Given the description of an element on the screen output the (x, y) to click on. 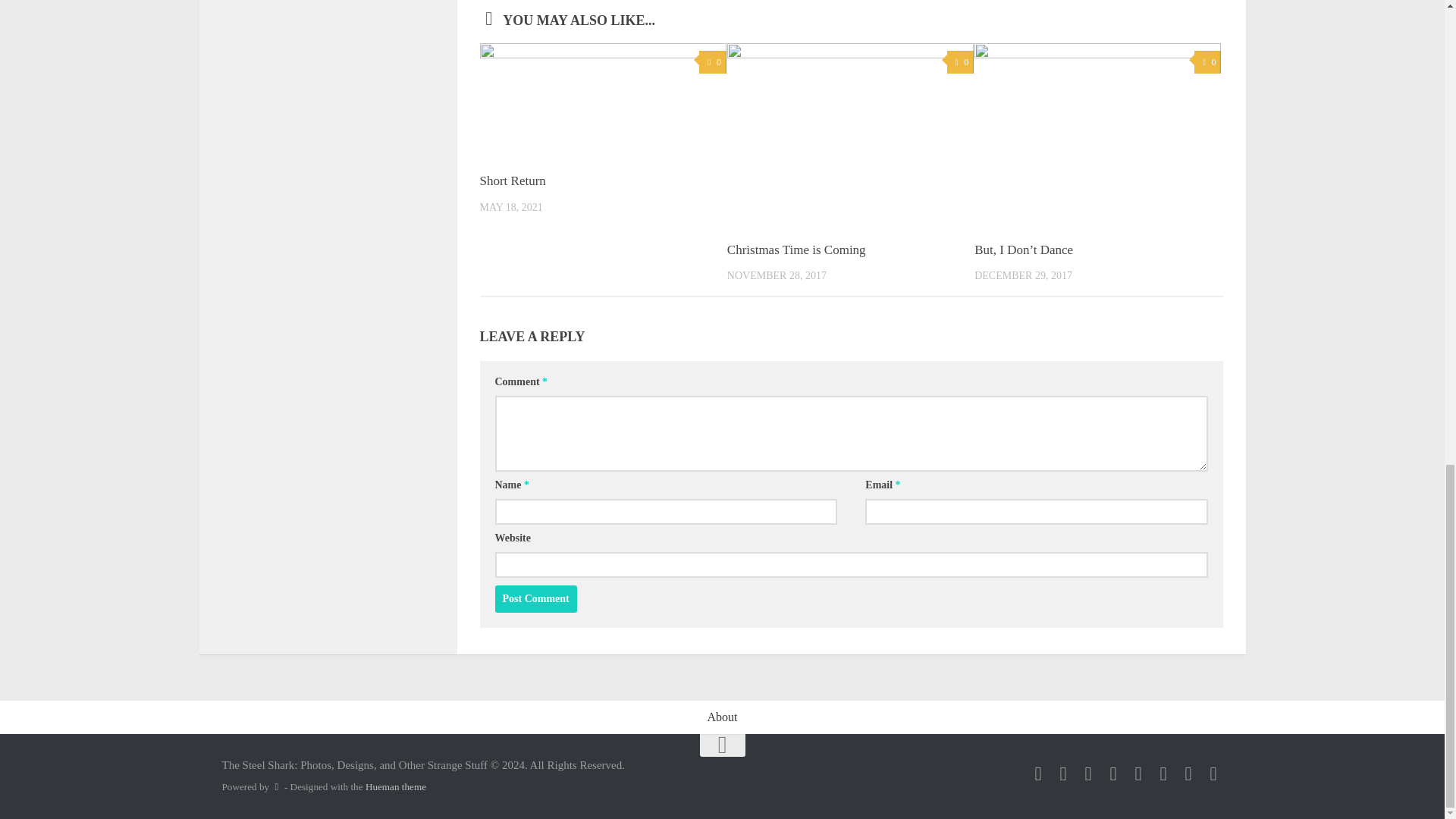
0 (1207, 62)
Post Comment (535, 598)
0 (711, 62)
Christmas Time is Coming (796, 249)
Post Comment (535, 598)
Short Return (511, 180)
0 (960, 62)
